Given the description of an element on the screen output the (x, y) to click on. 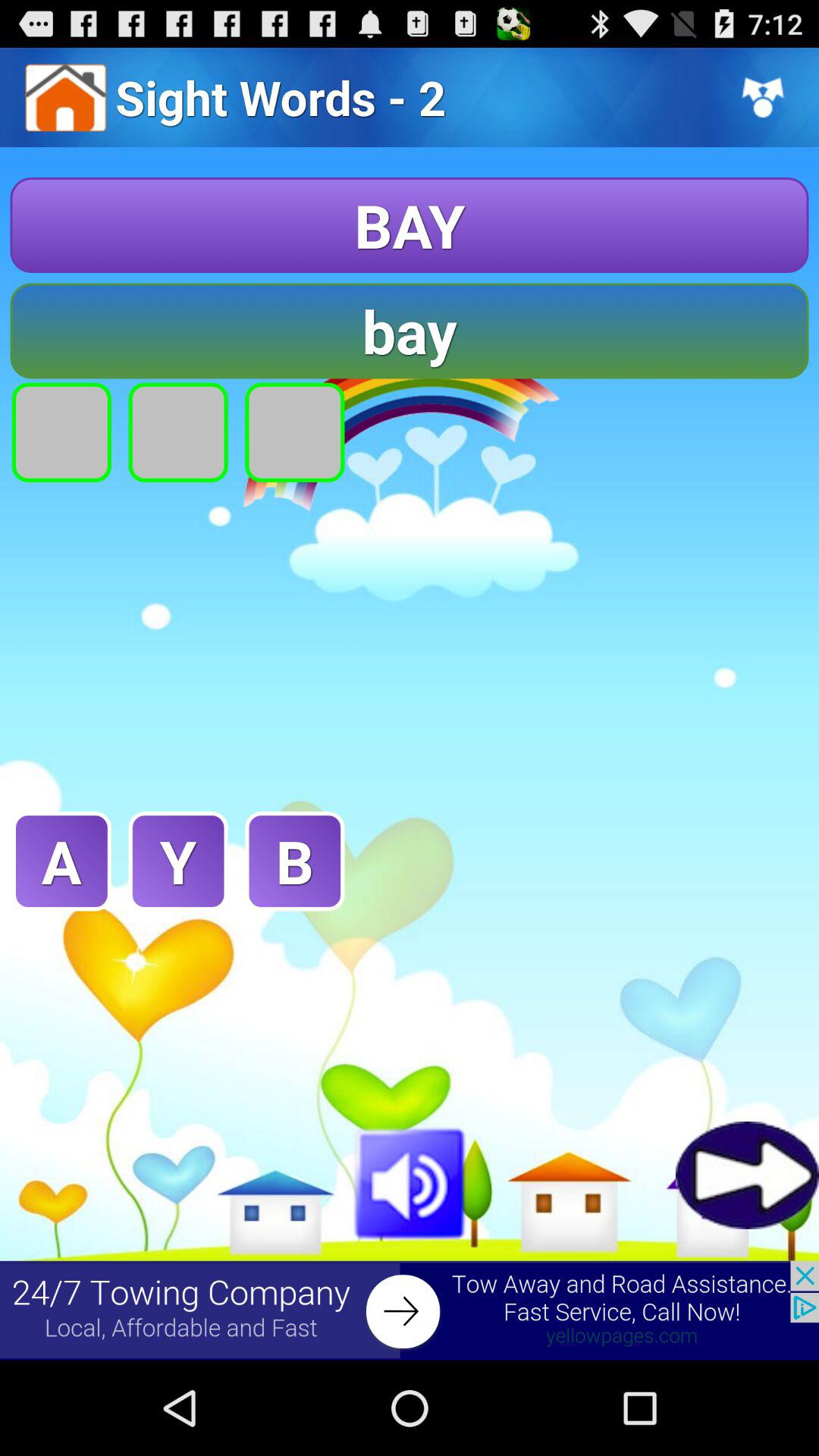
volume control (409, 1181)
